Given the description of an element on the screen output the (x, y) to click on. 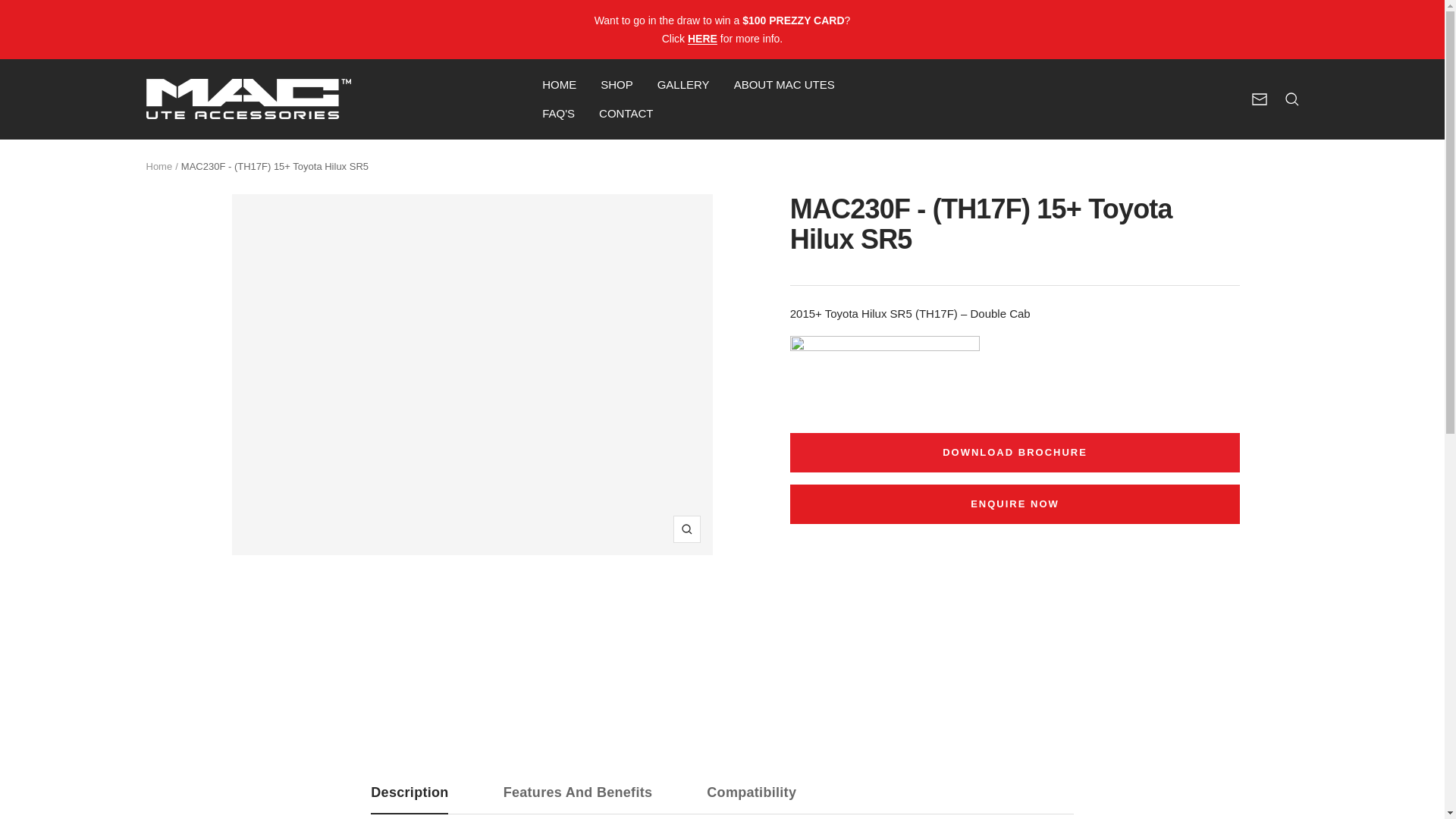
CONTACT (625, 113)
Zoom (686, 528)
MAC Ute Accessories (247, 98)
HOME (722, 798)
SHOP (558, 85)
GALLERY (616, 85)
FAQ'S (684, 85)
Monthly Draw (558, 113)
Newsletter (702, 38)
Home (1259, 99)
HERE (158, 165)
ABOUT MAC UTES (702, 38)
